Given the description of an element on the screen output the (x, y) to click on. 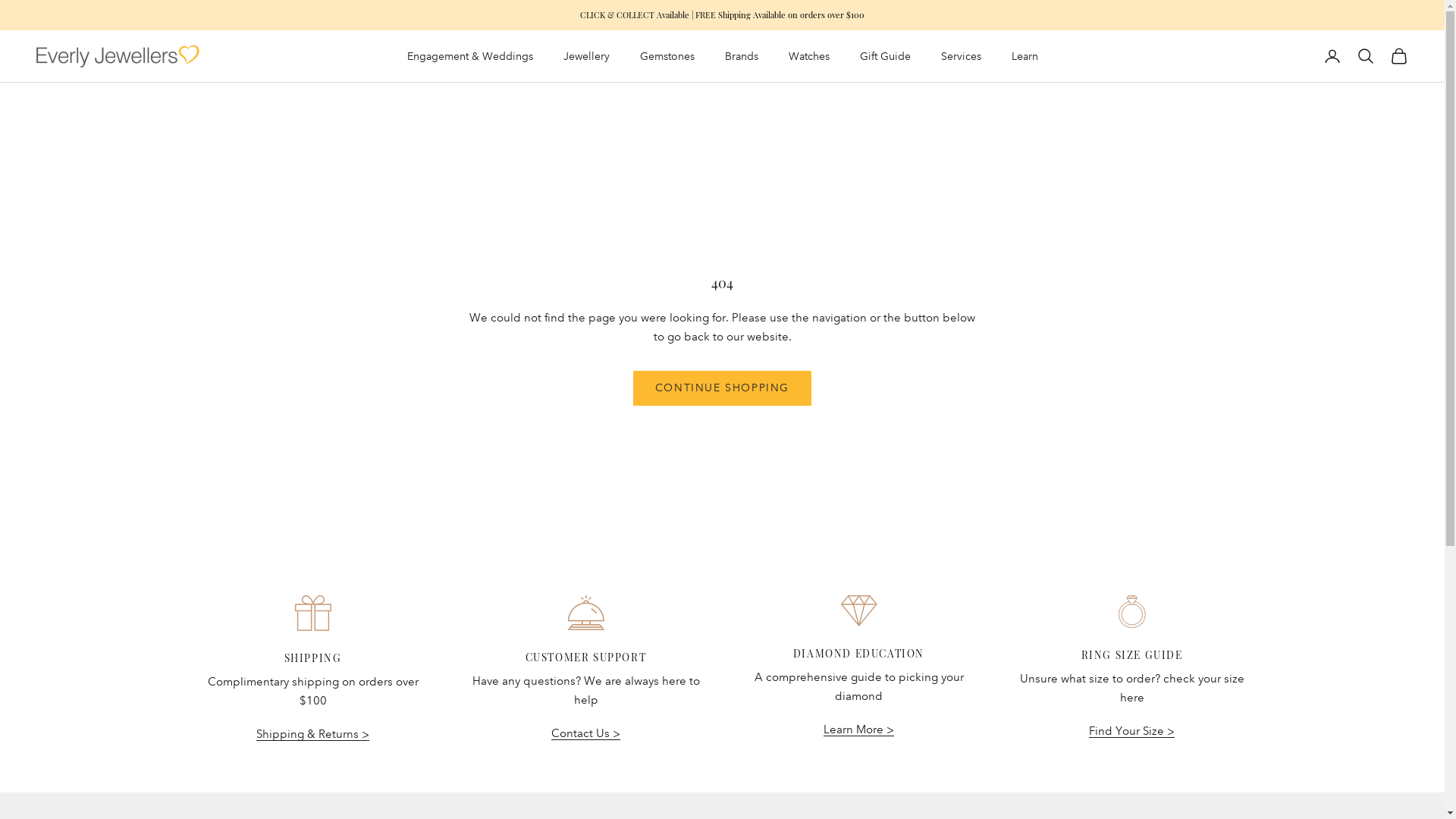
Everly Jewellers Element type: text (117, 55)
Contact Us > Element type: text (585, 733)
Open cart Element type: text (1399, 56)
Open search Element type: text (1365, 56)
Learn More > Element type: text (858, 729)
Find Your Size > Element type: text (1131, 730)
Shipping & Returns > Element type: text (312, 733)
CONTINUE SHOPPING Element type: text (722, 387)
Open account page Element type: text (1332, 56)
